Given the description of an element on the screen output the (x, y) to click on. 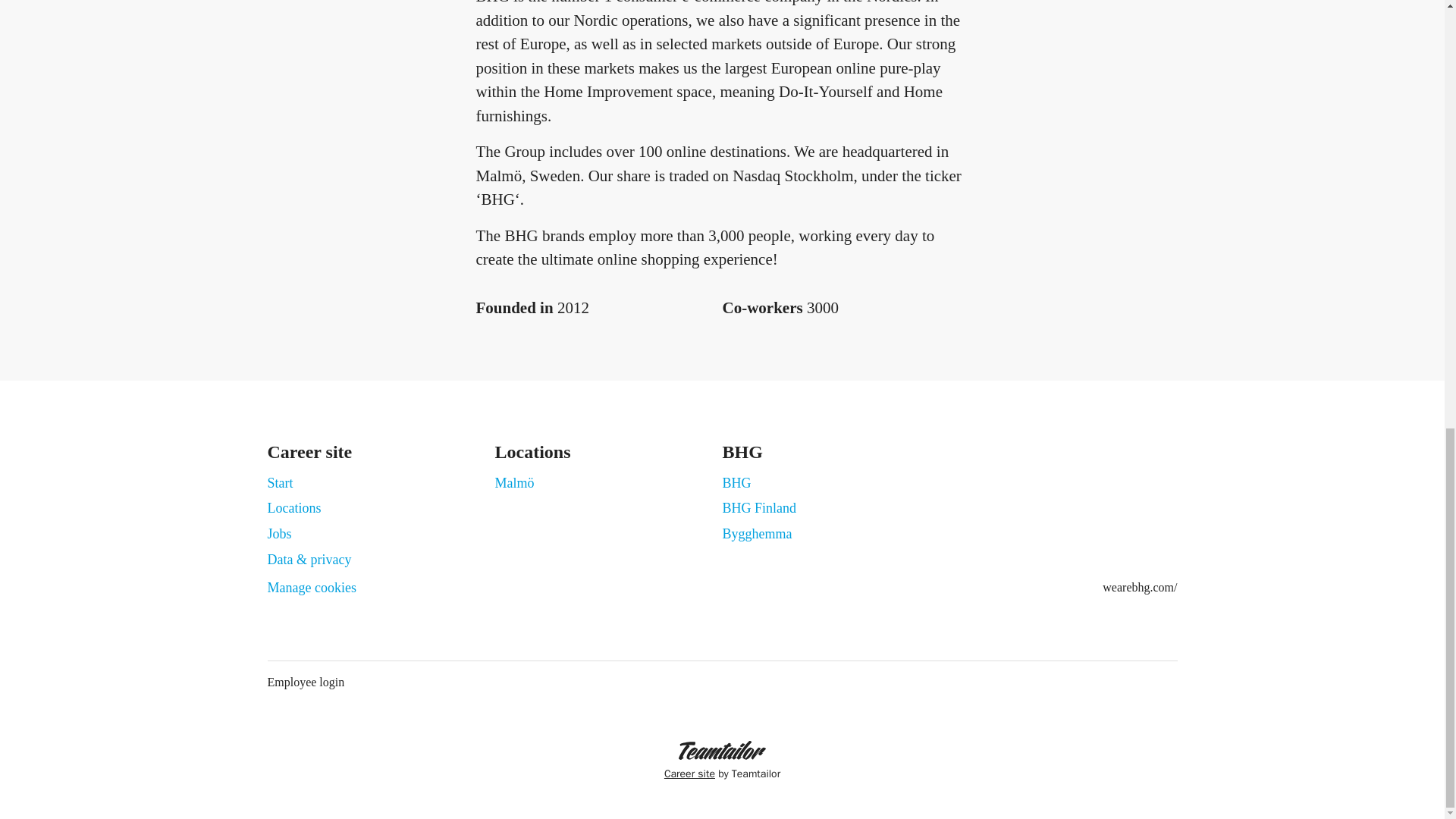
Career site by Teamtailor (722, 760)
Jobs (278, 533)
Manage cookies (310, 588)
BHG (736, 482)
Locations (293, 507)
Employee login (304, 682)
Bygghemma (757, 533)
BHG Finland (759, 507)
Start (279, 482)
